Given the description of an element on the screen output the (x, y) to click on. 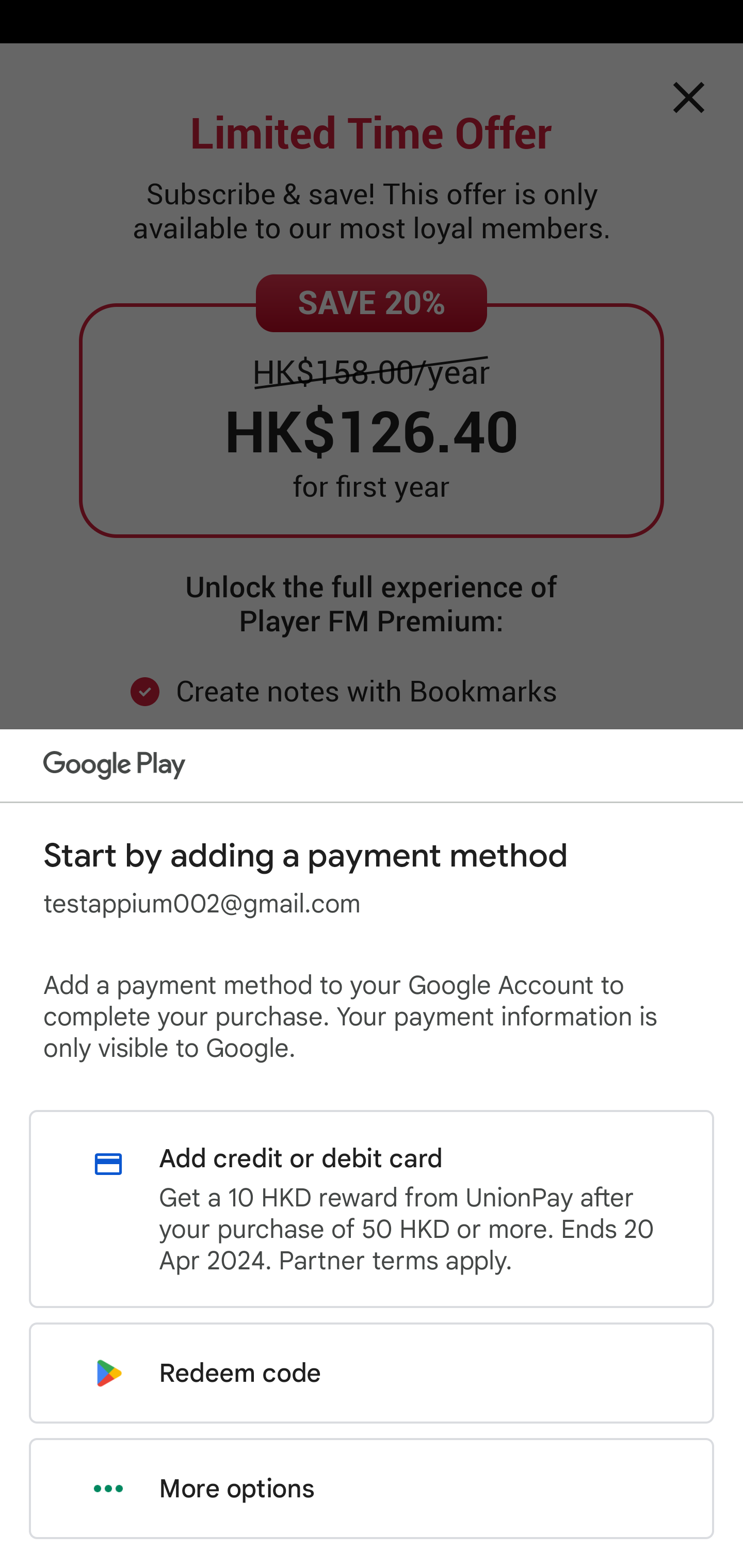
Redeem code (371, 1372)
More options (371, 1488)
